Given the description of an element on the screen output the (x, y) to click on. 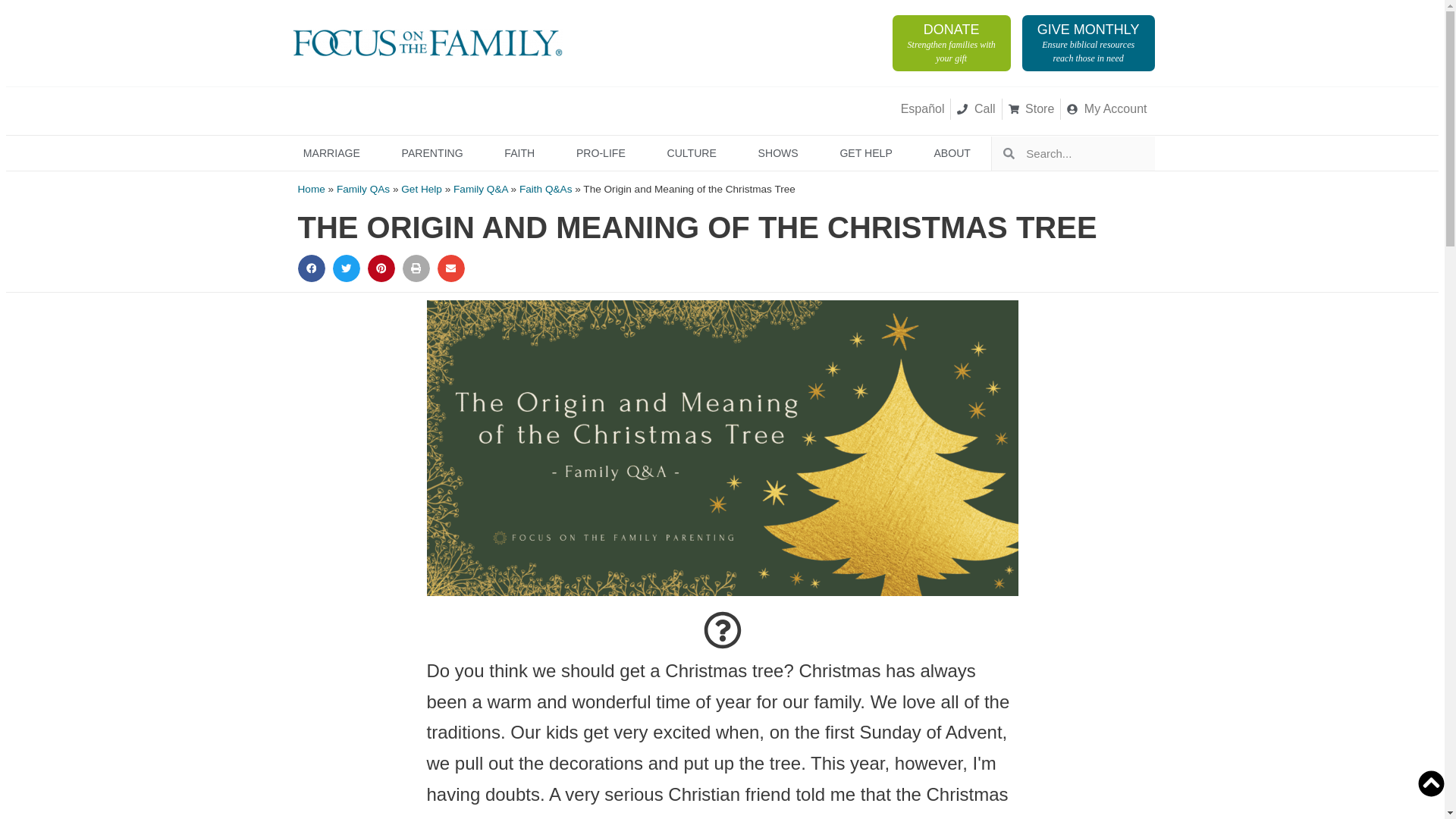
PARENTING (431, 152)
Brio (951, 43)
Boundless (1088, 43)
Plugged In (550, 109)
MARRIAGE (478, 109)
My Account (389, 109)
PRO-LIFE (331, 152)
Adventures in Odyssey (1107, 108)
